Given the description of an element on the screen output the (x, y) to click on. 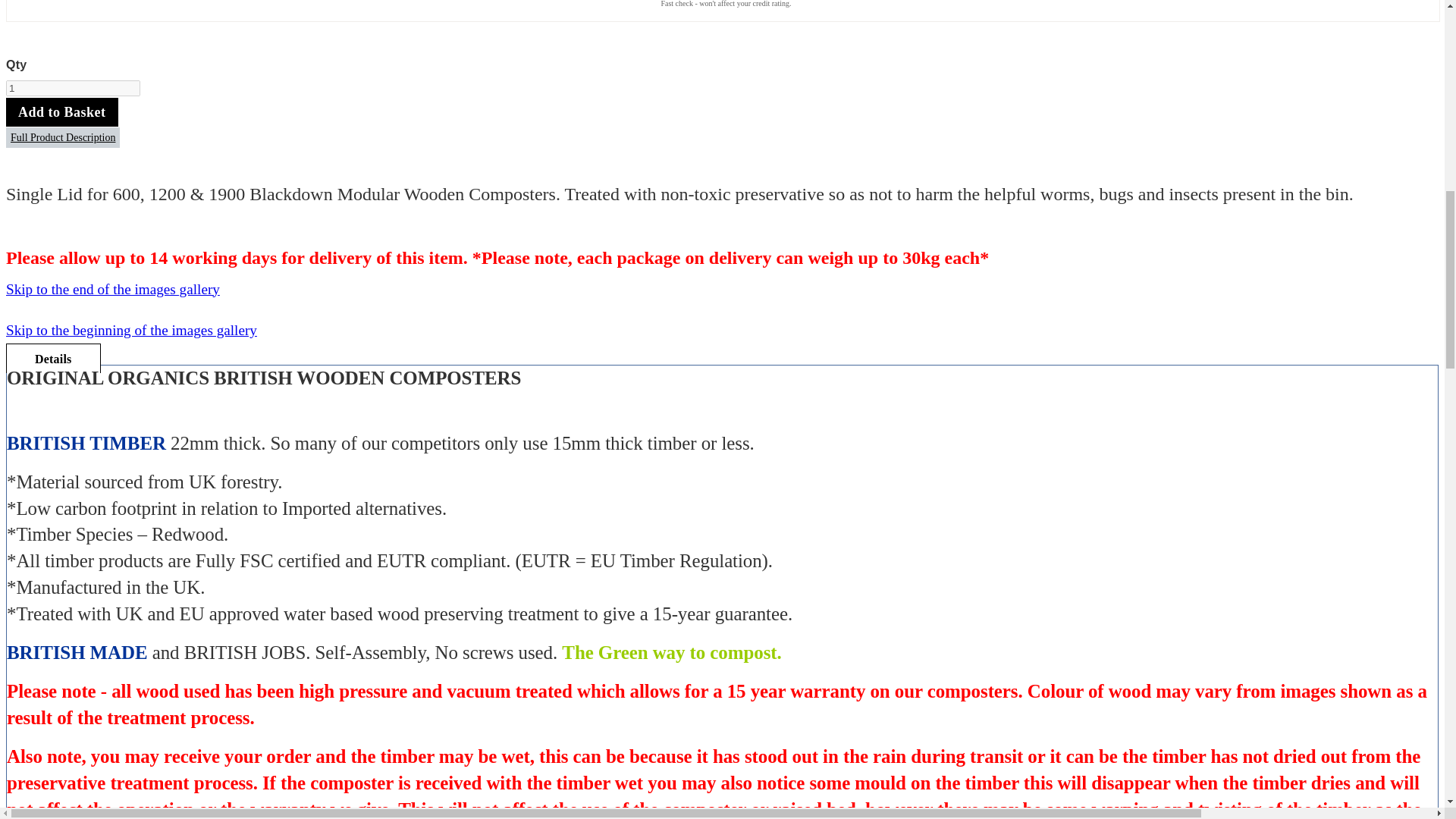
Add to Basket (61, 111)
1 (72, 88)
Qty (72, 88)
